Given the description of an element on the screen output the (x, y) to click on. 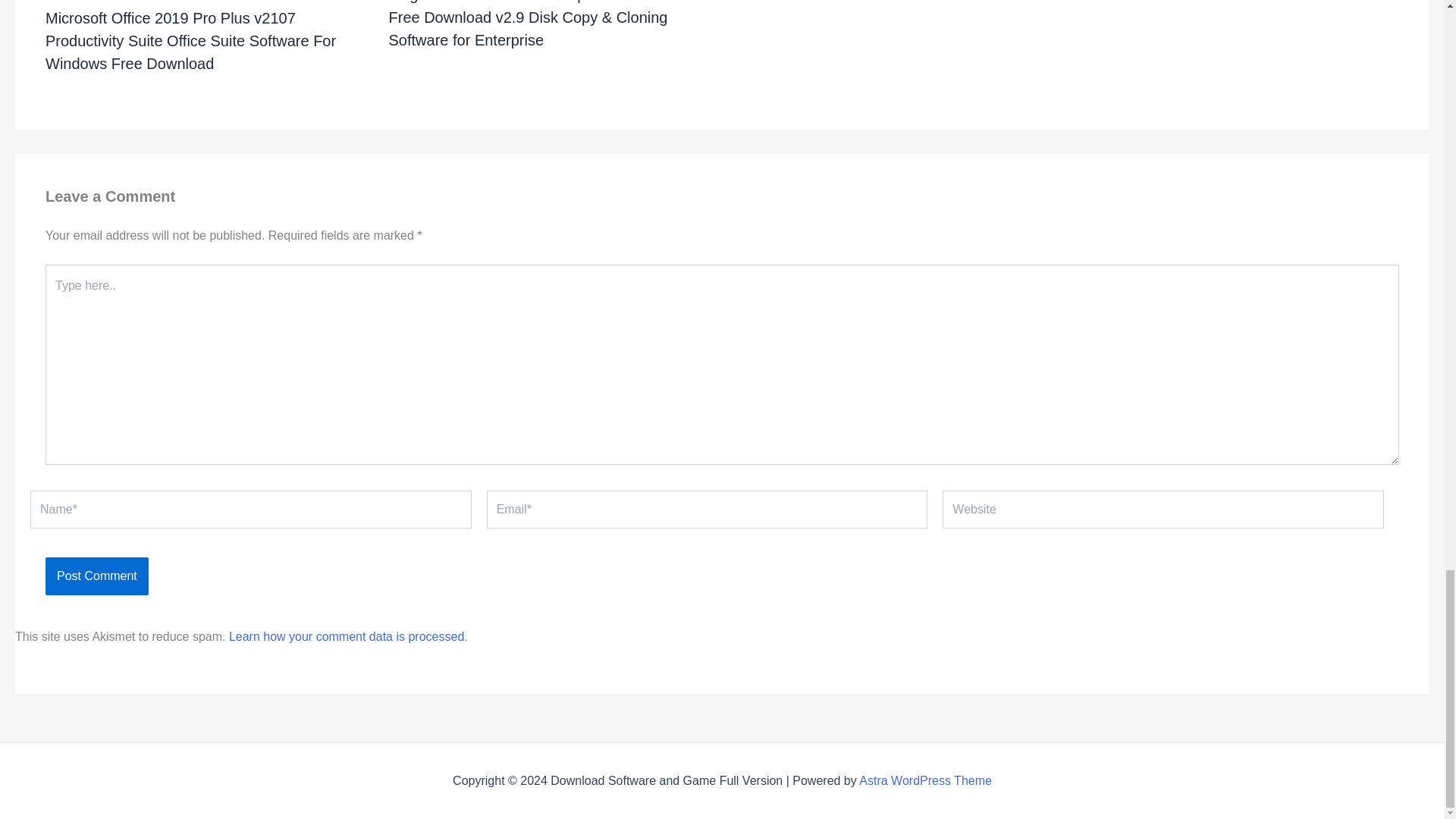
Post Comment (96, 576)
Learn how your comment data is processed (346, 635)
Post Comment (96, 576)
Astra WordPress Theme (925, 780)
